Given the description of an element on the screen output the (x, y) to click on. 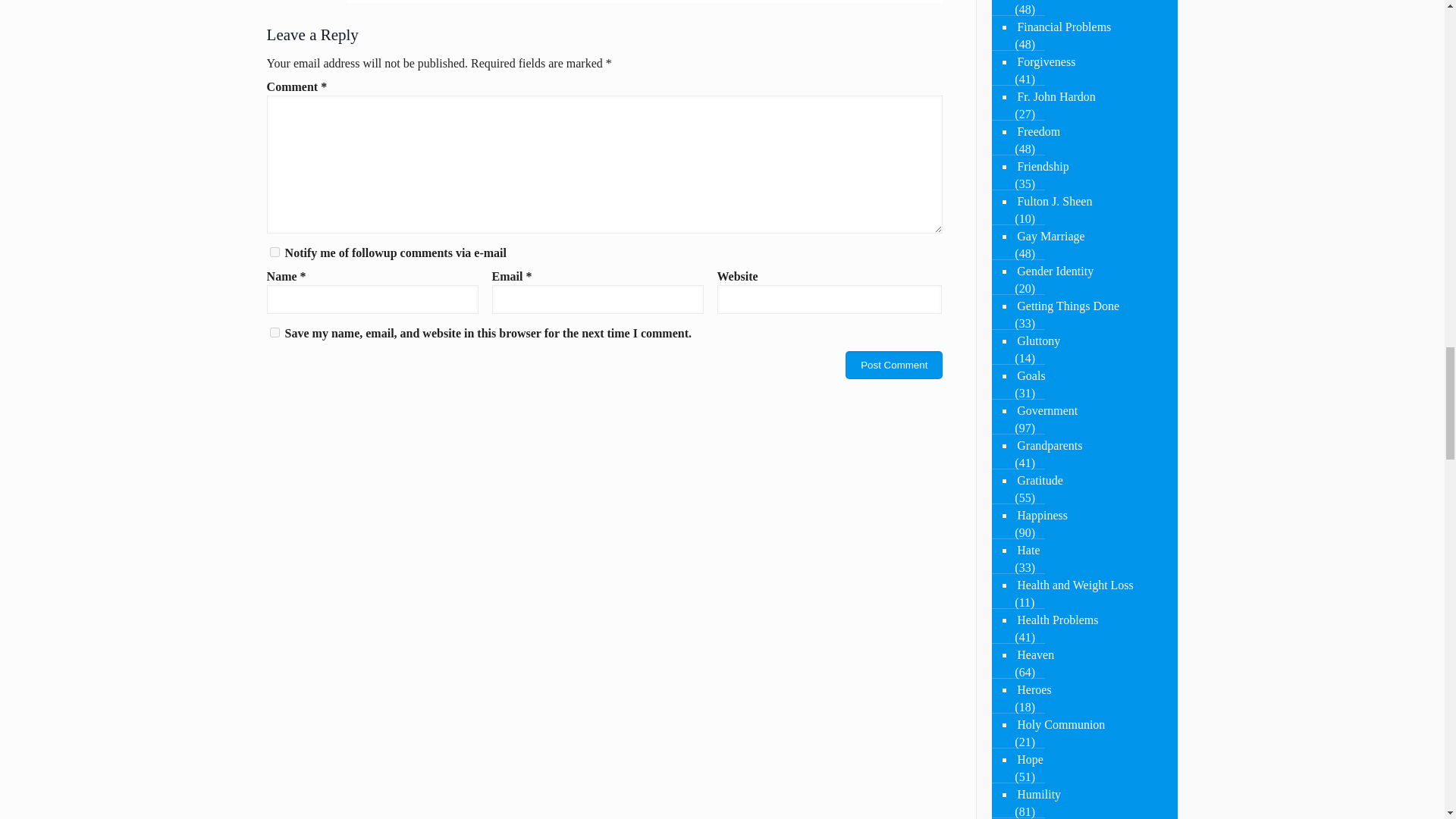
Post Comment (893, 365)
yes (274, 332)
subscribe (274, 252)
